Given the description of an element on the screen output the (x, y) to click on. 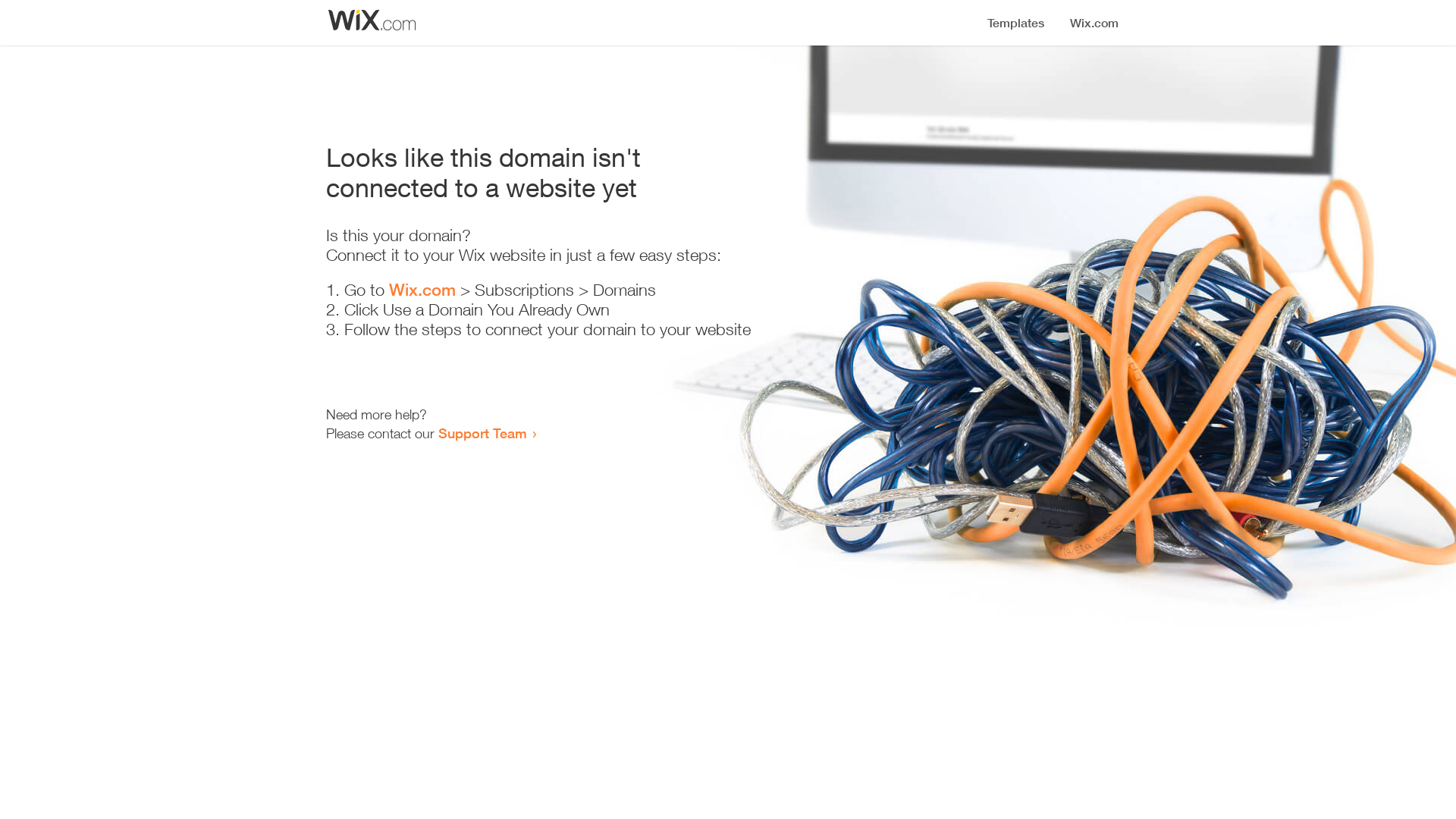
Support Team Element type: text (482, 432)
Wix.com Element type: text (422, 289)
